Given the description of an element on the screen output the (x, y) to click on. 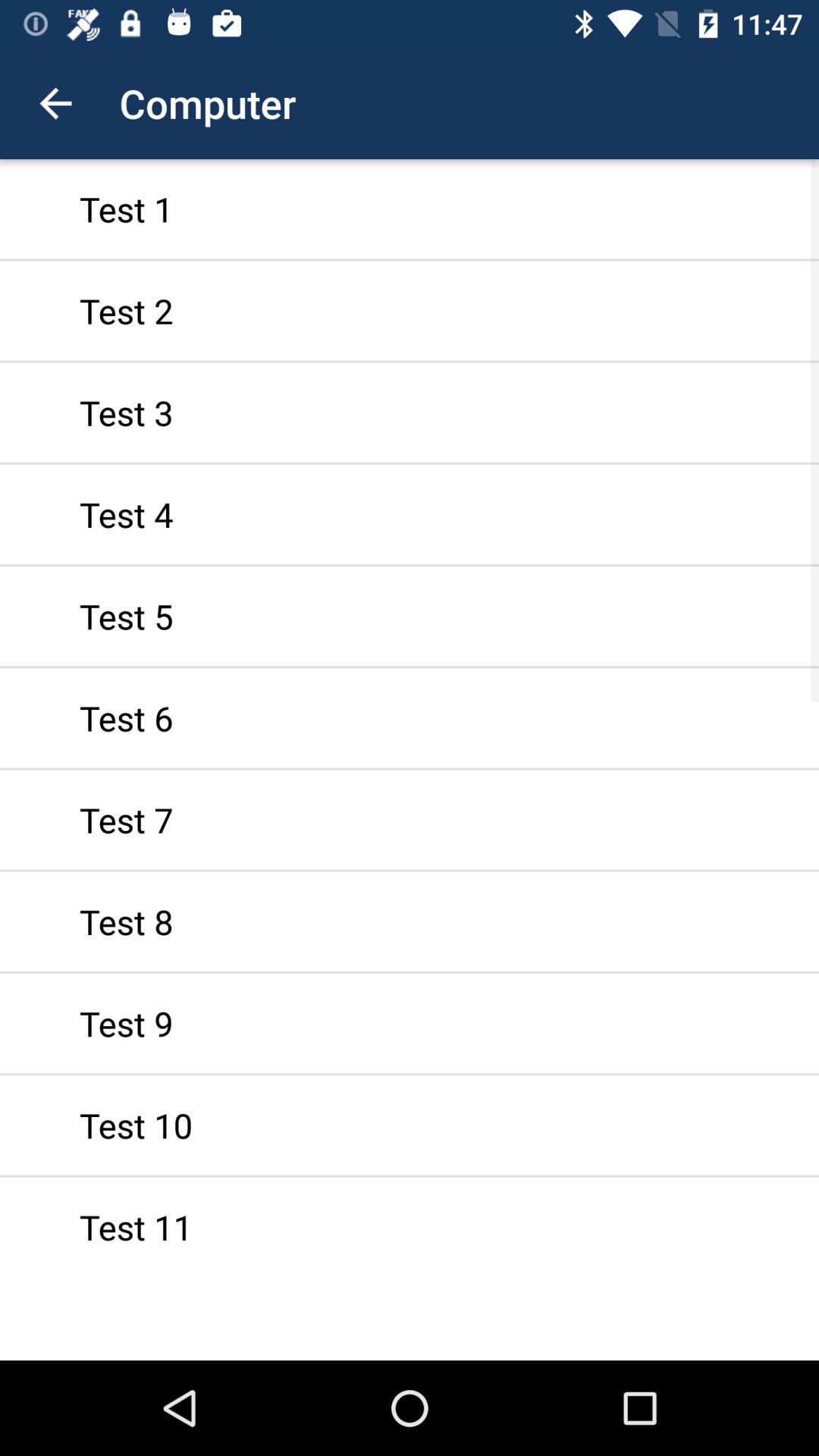
tap icon below the test 7 icon (409, 921)
